Given the description of an element on the screen output the (x, y) to click on. 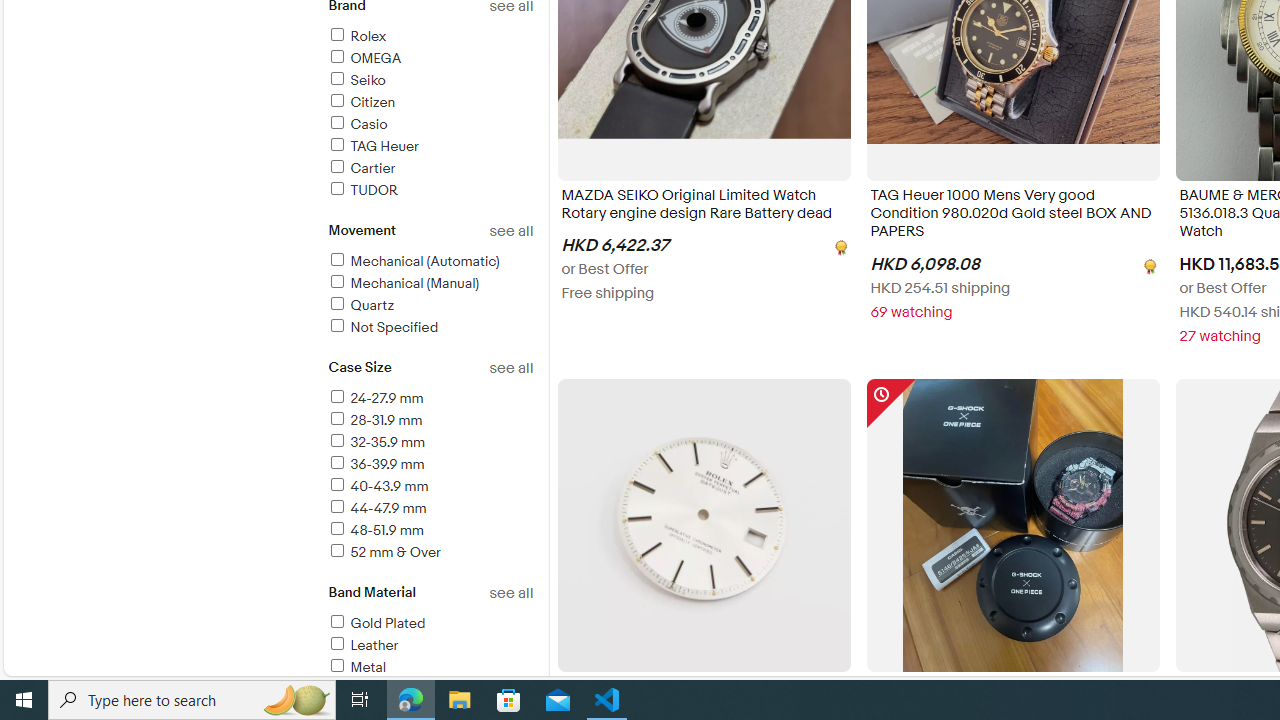
Rolex (356, 36)
Mechanical (Automatic) (430, 262)
24-27.9 mm (430, 399)
52 mm & Over (383, 552)
See all band material refinements (510, 593)
Mechanical (Manual) (430, 284)
Cartier (430, 169)
Casio (430, 125)
Metal (356, 667)
Mechanical (Automatic) (413, 261)
24-27.9 mm (374, 398)
36-39.9 mm (430, 465)
Seiko (430, 81)
Leather (430, 646)
